Given the description of an element on the screen output the (x, y) to click on. 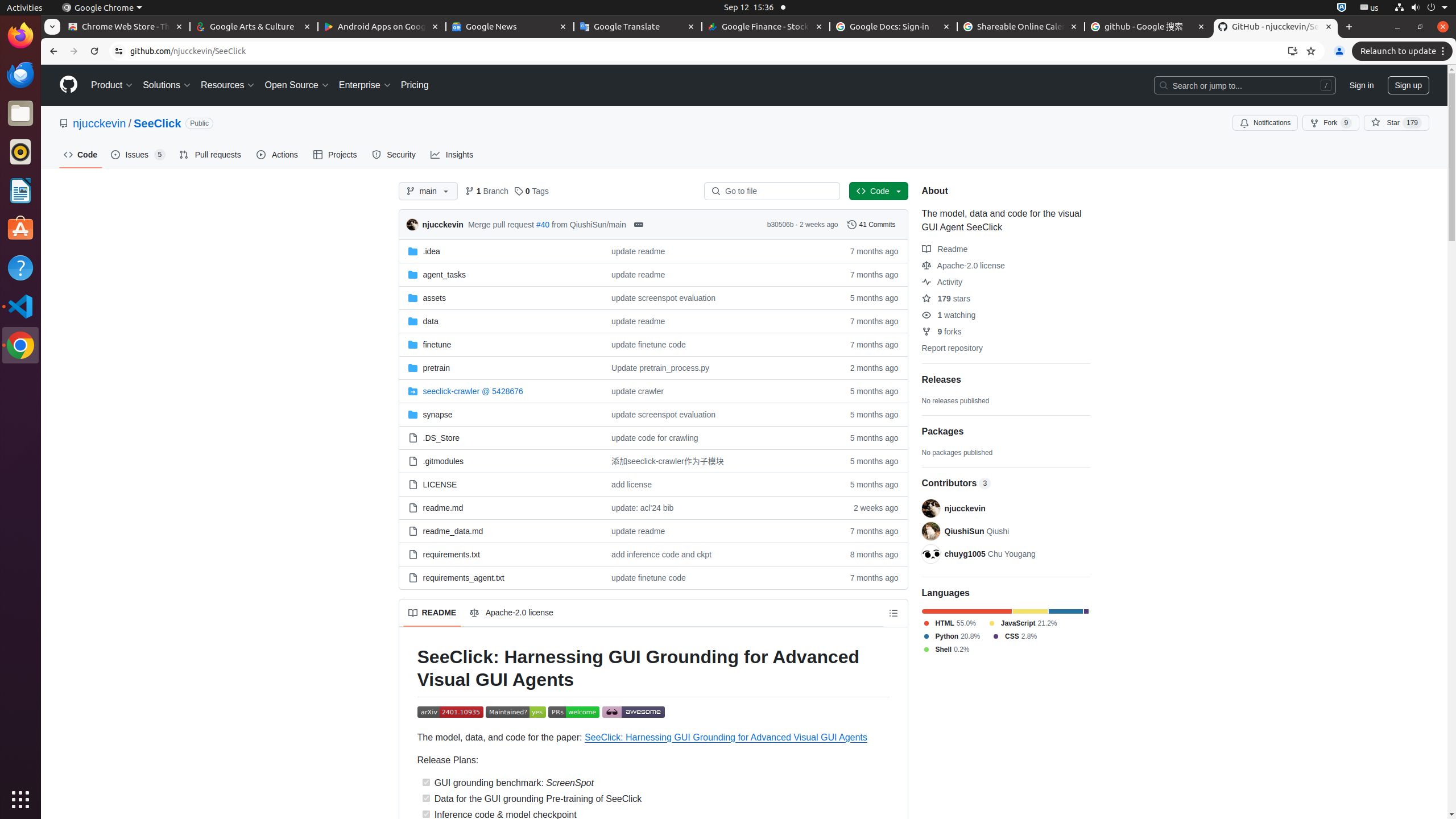
Shareable Online Calendar and Scheduling - Google Calendar - Memory usage - 87.5 MB Element type: page-tab (1020, 26)
@QiushiSun Element type: link (930, 531)
Outline Element type: push-button (893, 613)
Help Element type: push-button (20, 267)
Insights Element type: link (452, 154)
